Given the description of an element on the screen output the (x, y) to click on. 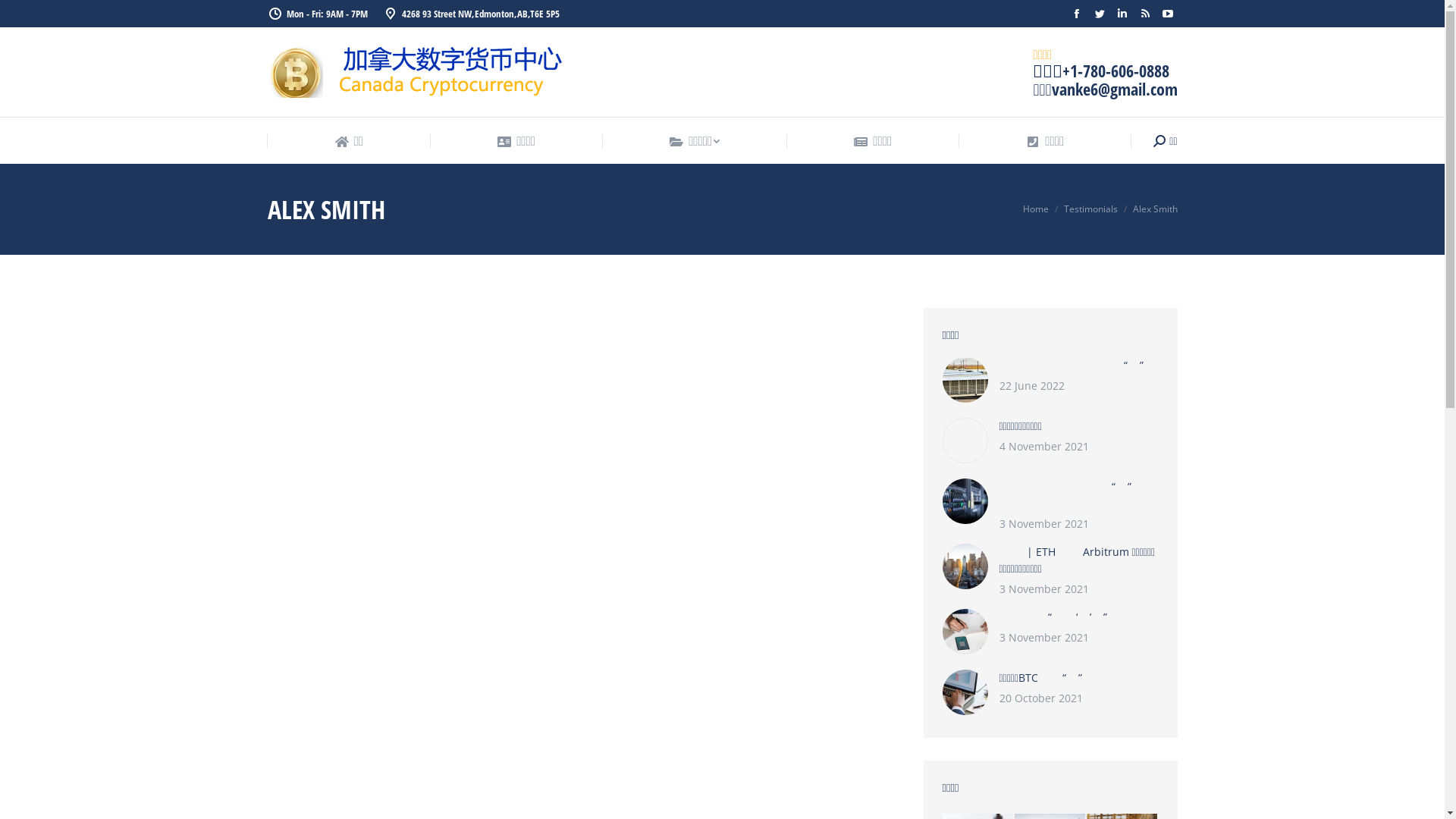
Rss page opens in new window Element type: text (1144, 13)
Testimonials Element type: text (1090, 208)
Twitter page opens in new window Element type: text (1098, 13)
YouTube page opens in new window Element type: text (1166, 13)
Home Element type: text (1035, 208)
Facebook page opens in new window Element type: text (1075, 13)
Go! Element type: text (23, 15)
Linkedin page opens in new window Element type: text (1121, 13)
